Given the description of an element on the screen output the (x, y) to click on. 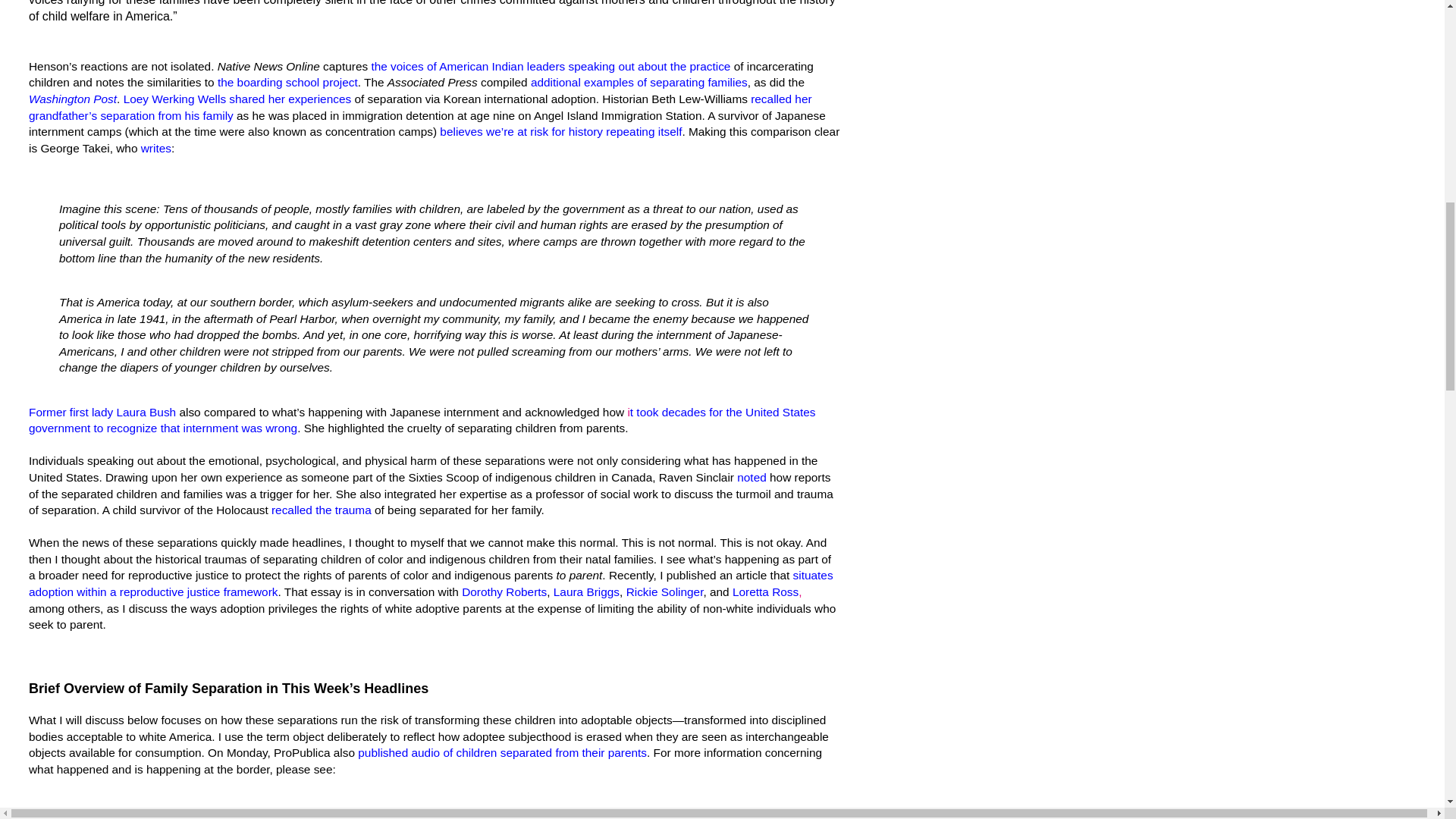
Dorothy Roberts (504, 591)
writes (156, 147)
Laura Briggs (586, 591)
recalled the trauma (320, 509)
noted (751, 477)
Rickie Solinger (664, 591)
the boarding school project (287, 82)
situates adoption within a reproductive justice framework (430, 583)
additional examples of separating families (639, 82)
published audio of children separated from their parents (502, 752)
Washington Post (72, 98)
Loretta Ross, (767, 591)
Loey Werking Wells shared her experiences (237, 98)
